Given the description of an element on the screen output the (x, y) to click on. 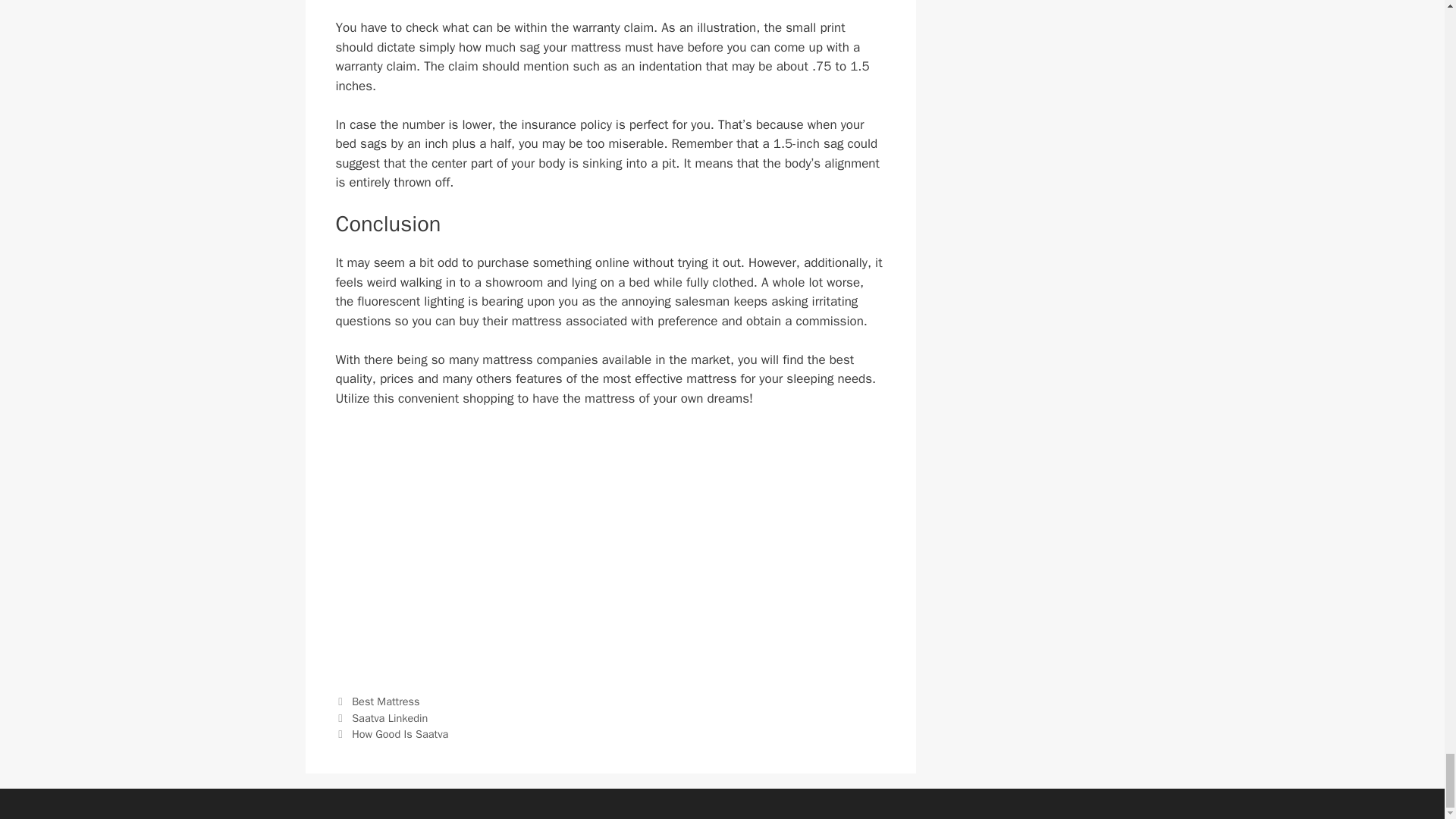
Saatva Linkedin (390, 717)
How Good Is Saatva (400, 734)
Best Mattress (385, 701)
